Given the description of an element on the screen output the (x, y) to click on. 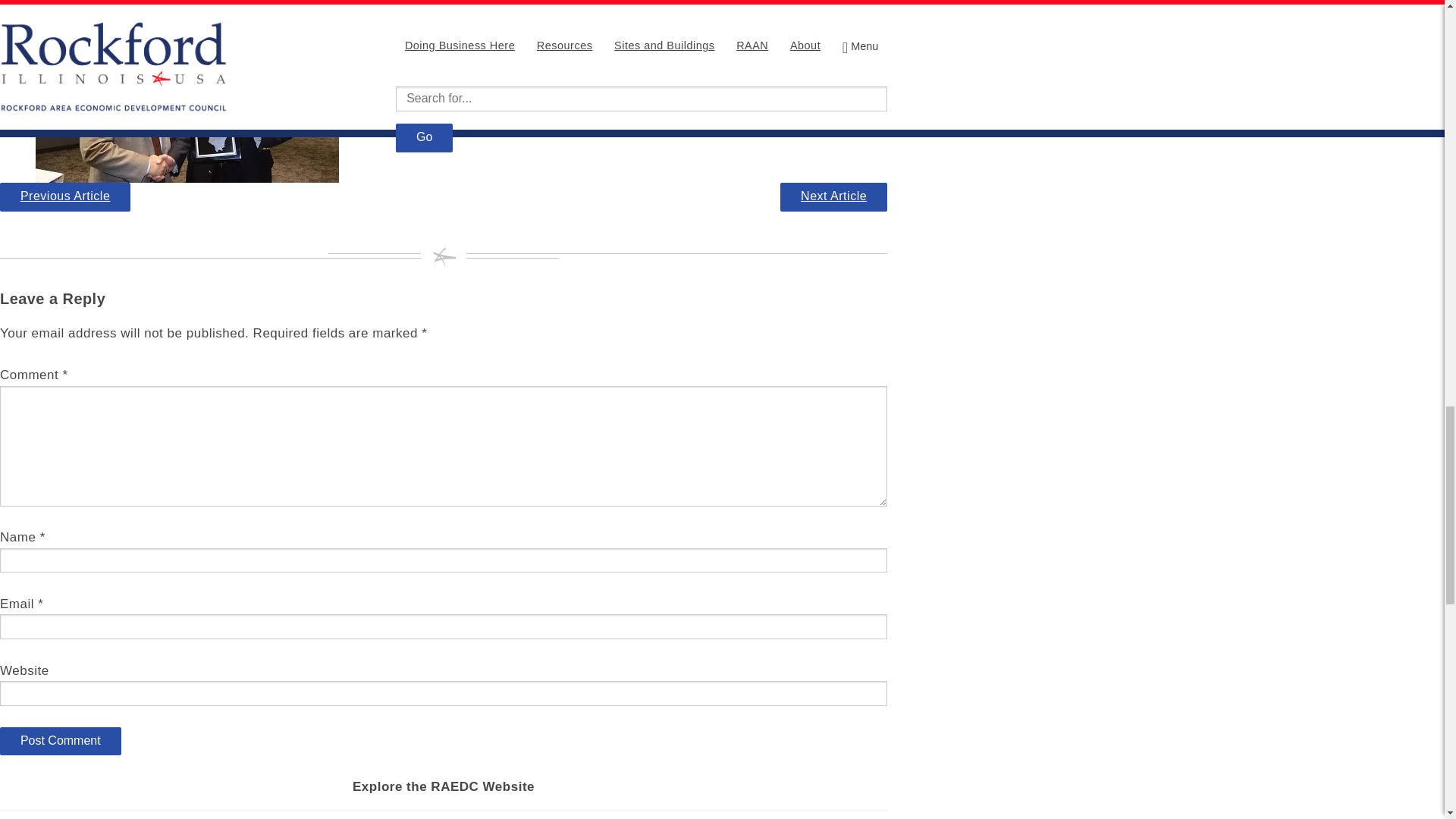
Post Comment (60, 741)
